Given the description of an element on the screen output the (x, y) to click on. 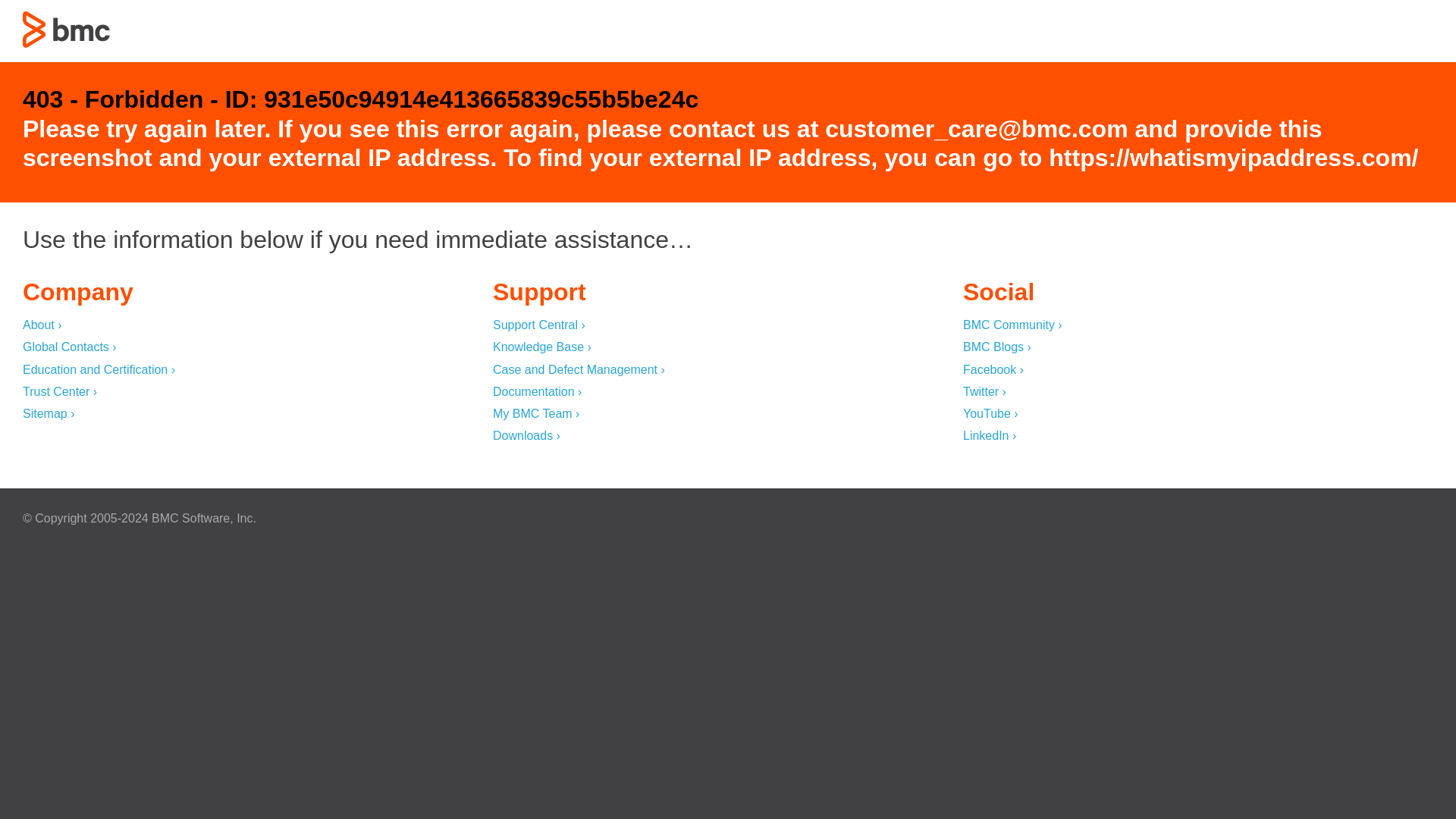
403 - Forbidden (66, 29)
